Given the description of an element on the screen output the (x, y) to click on. 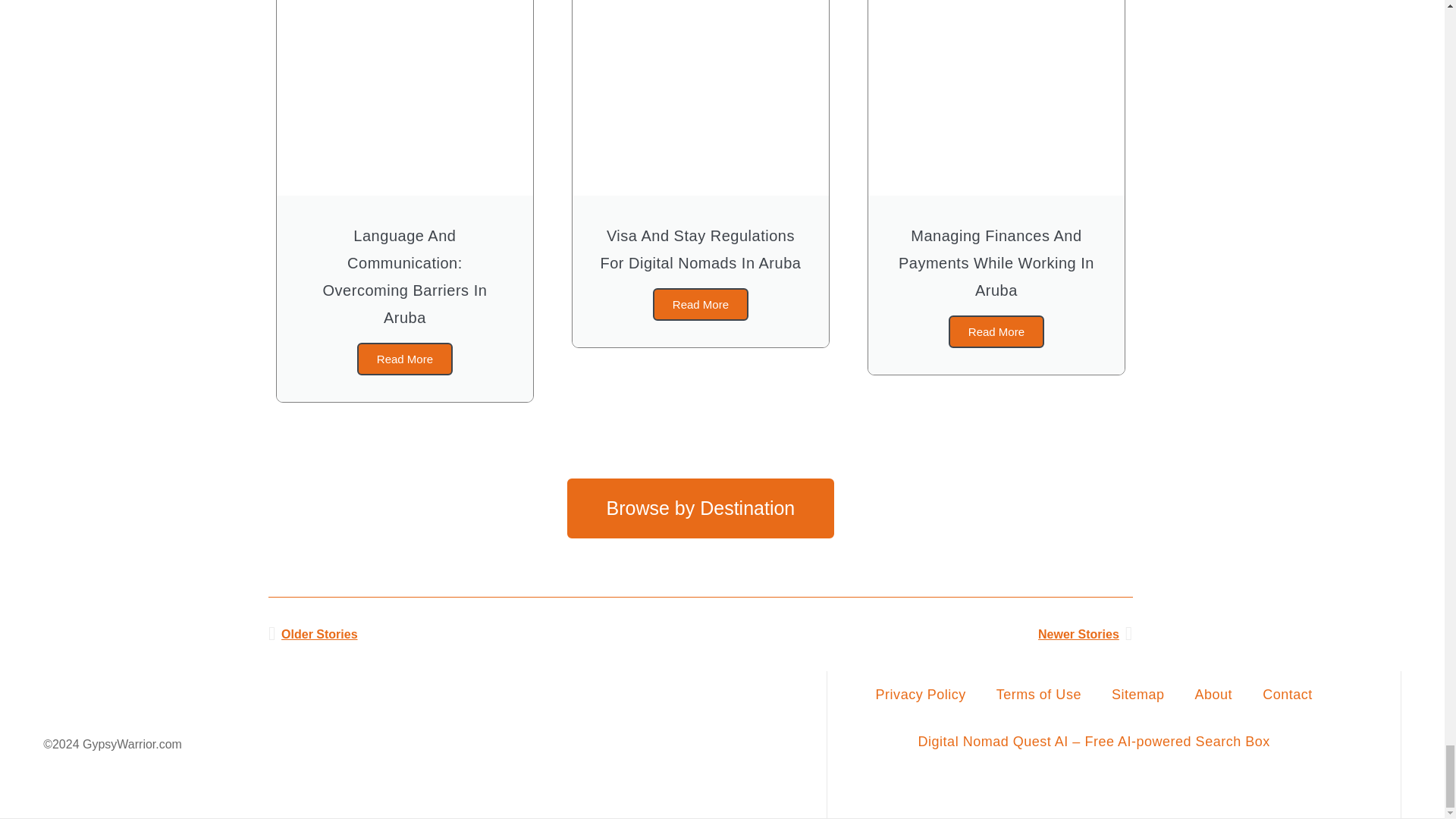
Contact (1287, 694)
Terms of Use (1038, 694)
Older Stories (483, 634)
Privacy Policy (920, 694)
Browse by Destination (700, 508)
Read More (700, 304)
About (1213, 694)
Read More (404, 359)
Read More (996, 331)
Sitemap (1137, 694)
Newer Stories (916, 634)
